Given the description of an element on the screen output the (x, y) to click on. 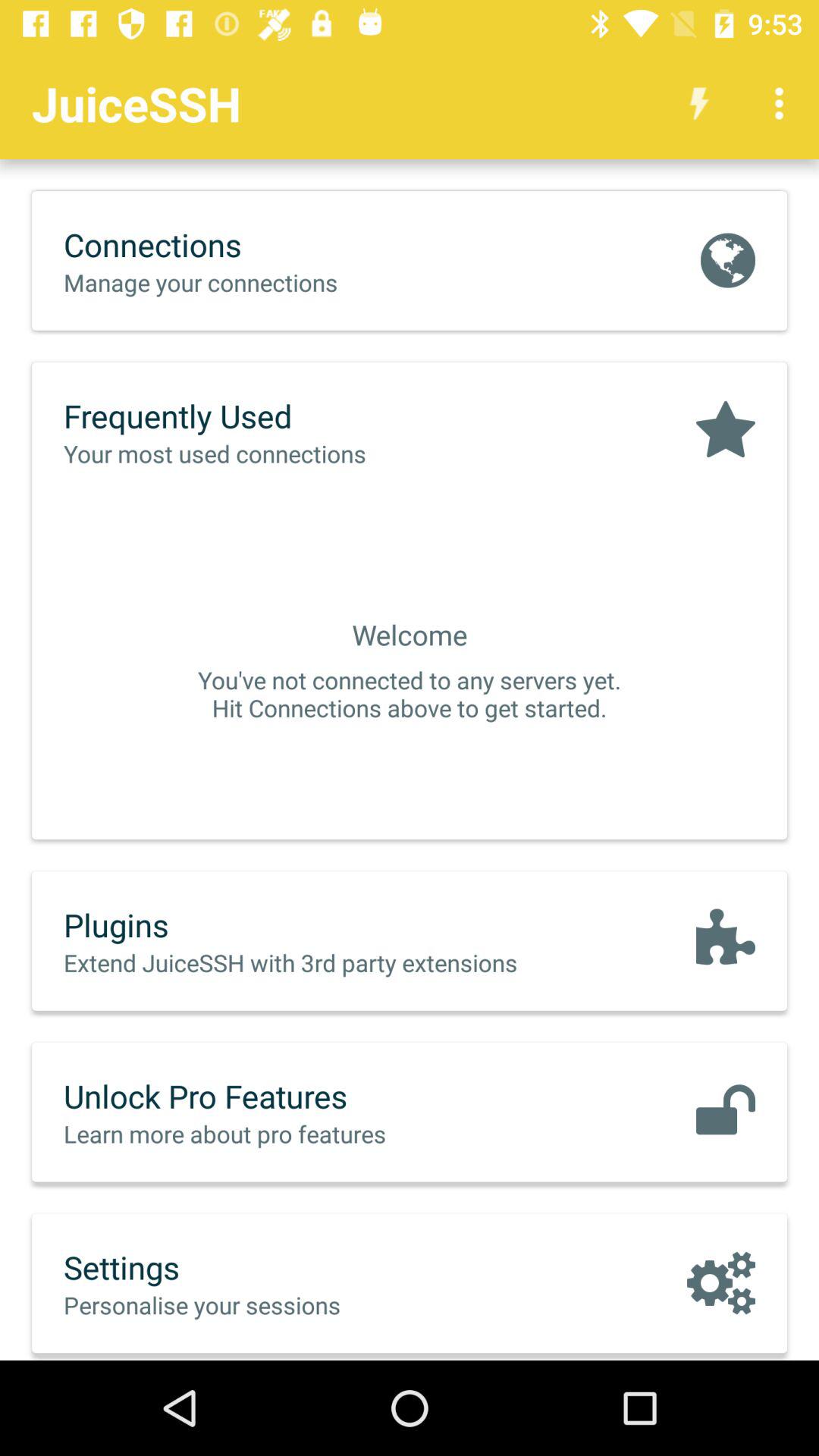
open icon below frequently used icon (246, 453)
